Given the description of an element on the screen output the (x, y) to click on. 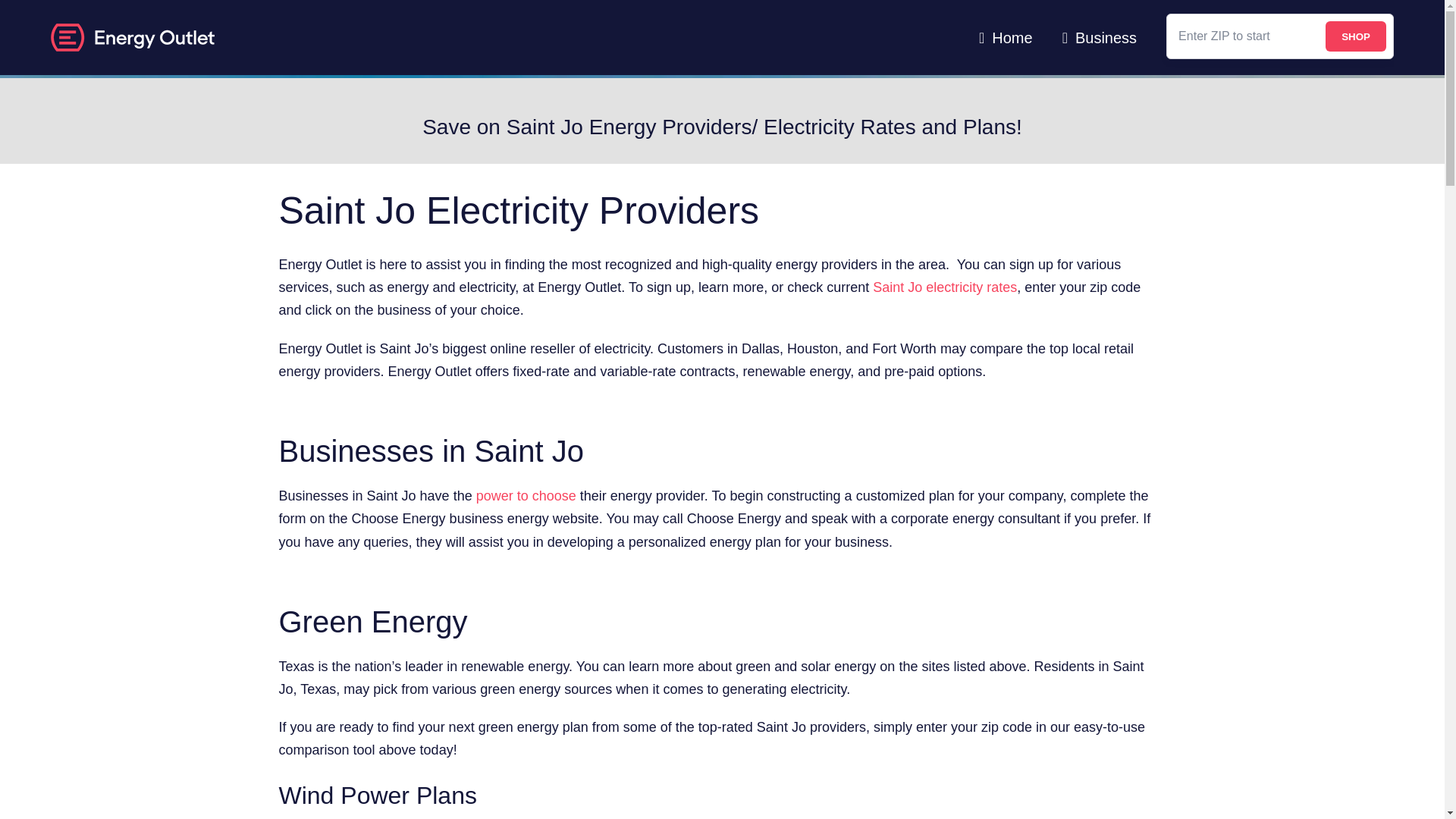
SHOP (1355, 36)
power to choose (526, 495)
Saint Jo electricity rates (944, 287)
Commercial Energy Plans (1099, 37)
SHOP (1355, 36)
Business (1099, 37)
